Given the description of an element on the screen output the (x, y) to click on. 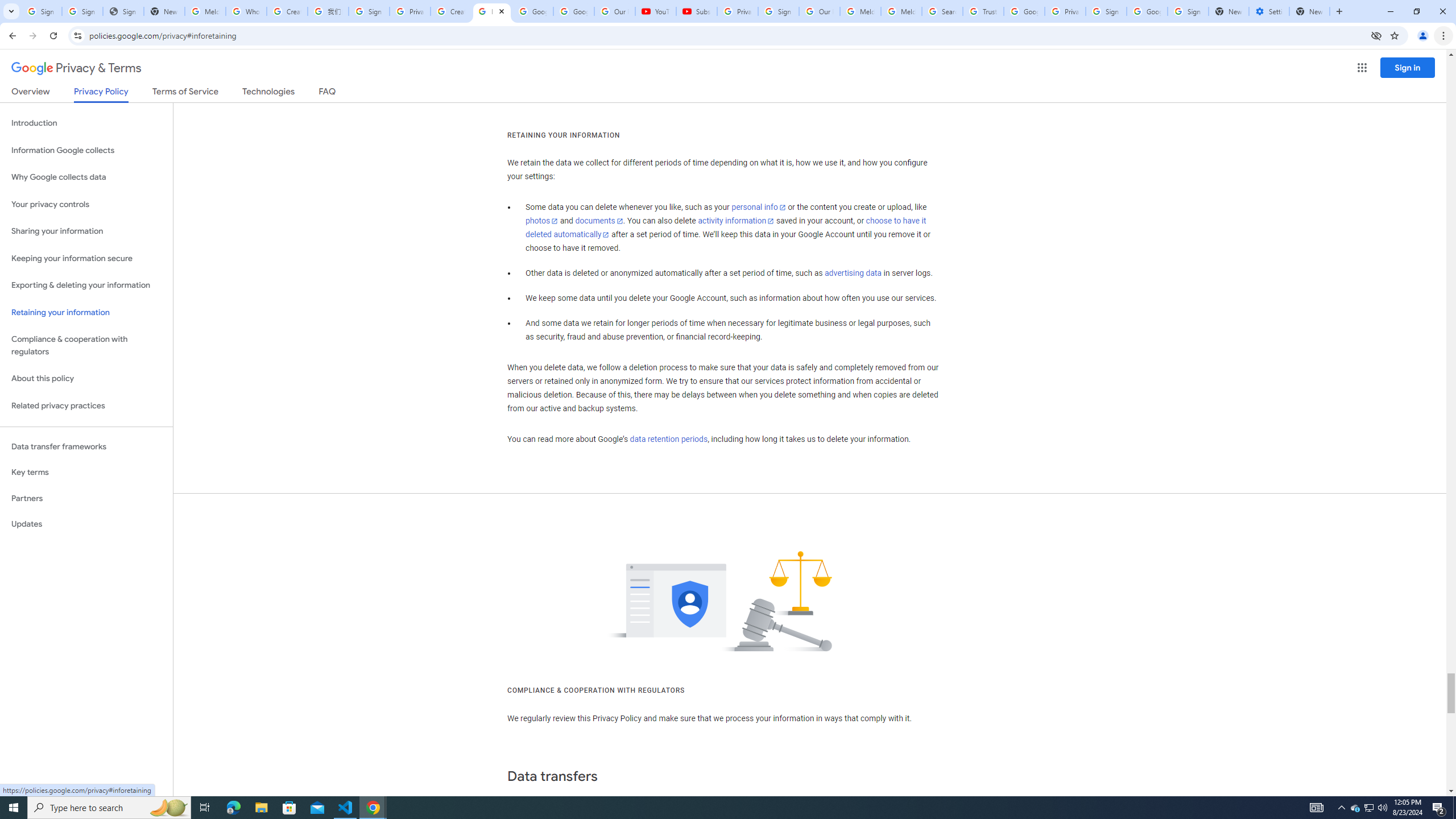
Privacy Policy (100, 94)
activity information (735, 221)
Create your Google Account (287, 11)
photos (542, 221)
Sign in - Google Accounts (41, 11)
New Tab (1309, 11)
Why Google collects data (86, 176)
Overview (30, 93)
Privacy & Terms (76, 68)
